Given the description of an element on the screen output the (x, y) to click on. 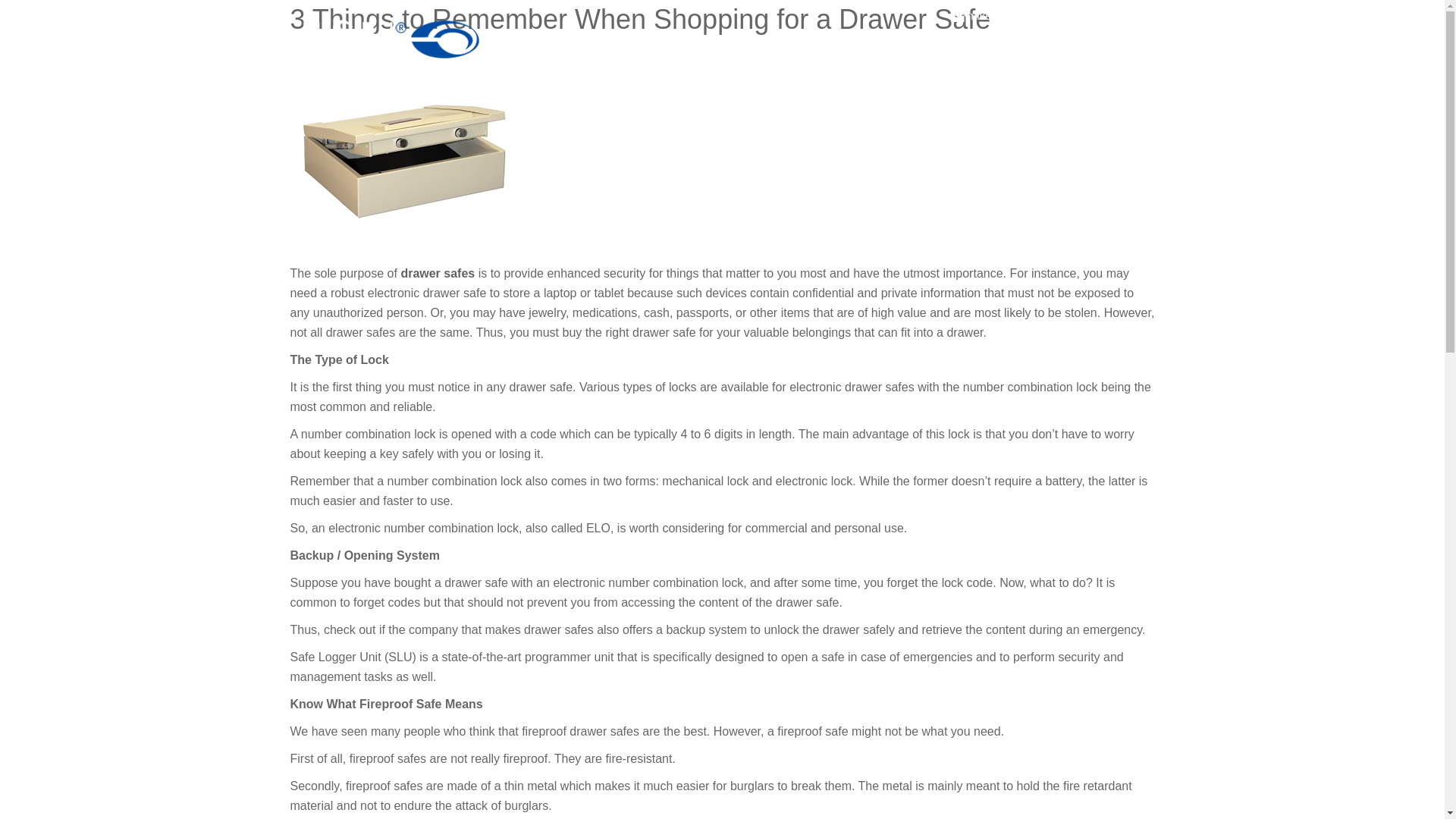
01442 216866 (1109, 15)
HOME (649, 57)
ABOUT US (738, 57)
CONTACT US (1056, 57)
CLIENTS (948, 57)
drawer safes (437, 273)
PRODUCTS (847, 57)
